Given the description of an element on the screen output the (x, y) to click on. 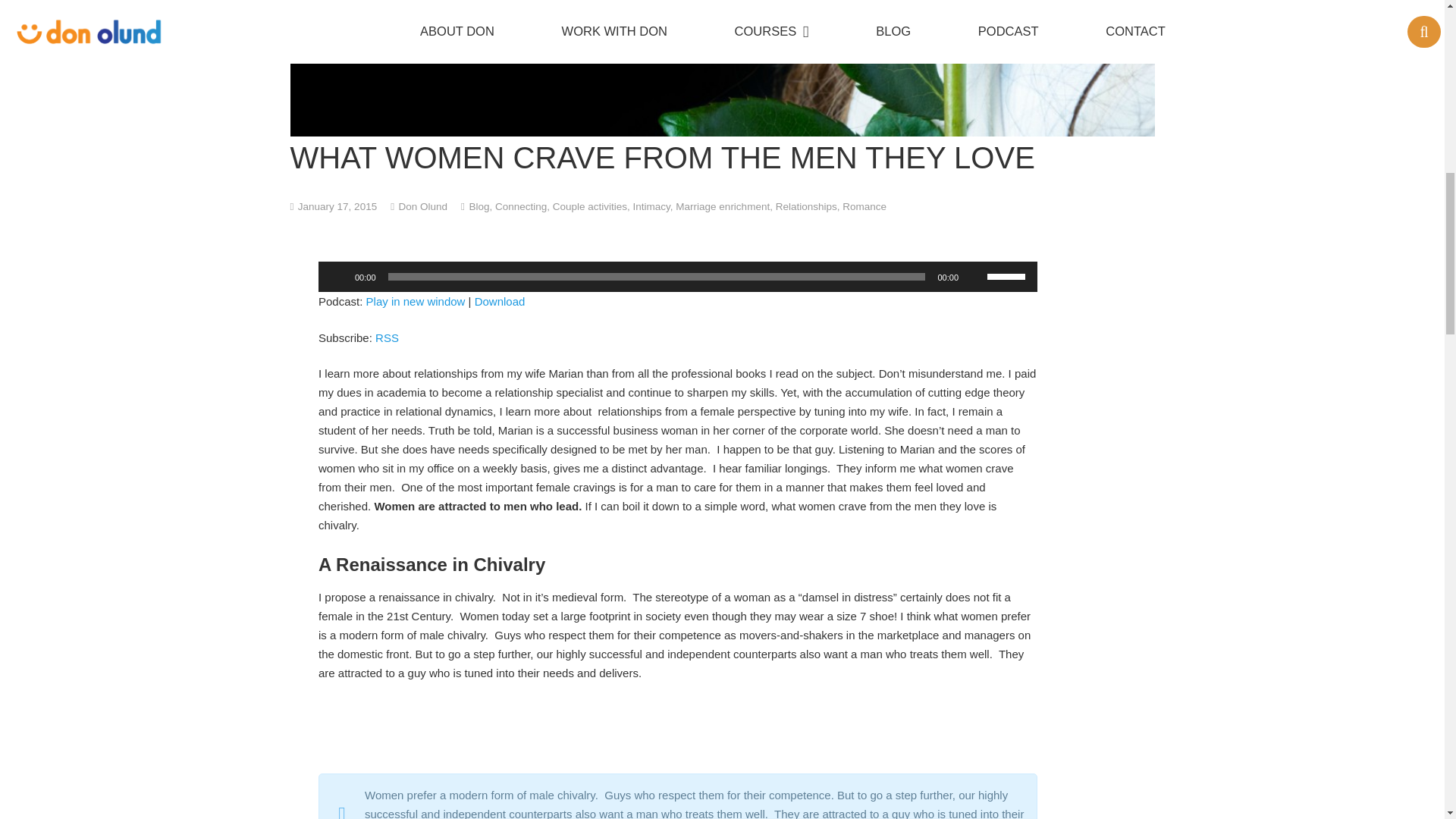
Blog (478, 206)
Intimacy (651, 206)
Marriage enrichment (722, 206)
Play in new window (415, 300)
Connecting (521, 206)
Relationships (806, 206)
Romance (864, 206)
Play (338, 276)
RSS (386, 336)
Mute (975, 276)
Download (499, 300)
Couple activities (590, 206)
Play in new window (415, 300)
Don Olund (423, 206)
Subscribe via RSS (386, 336)
